Given the description of an element on the screen output the (x, y) to click on. 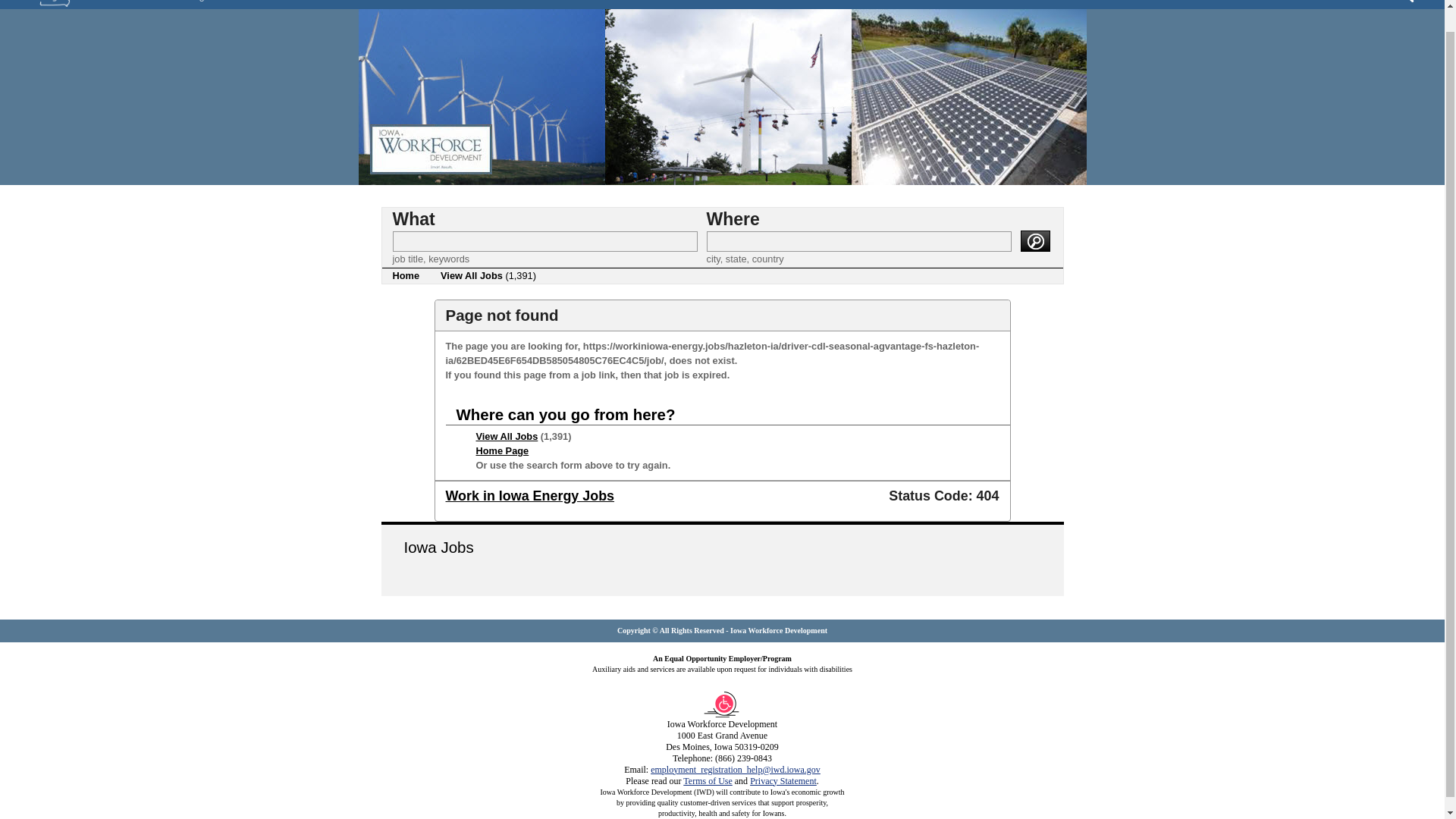
Privacy Statement (782, 780)
Work in Iowa Energy Jobs (529, 495)
Submit Search (1034, 240)
Search (1405, 2)
Search Location (858, 240)
Home (405, 275)
search (1034, 240)
View All Jobs (507, 436)
Home Page (502, 450)
search (1034, 240)
